Given the description of an element on the screen output the (x, y) to click on. 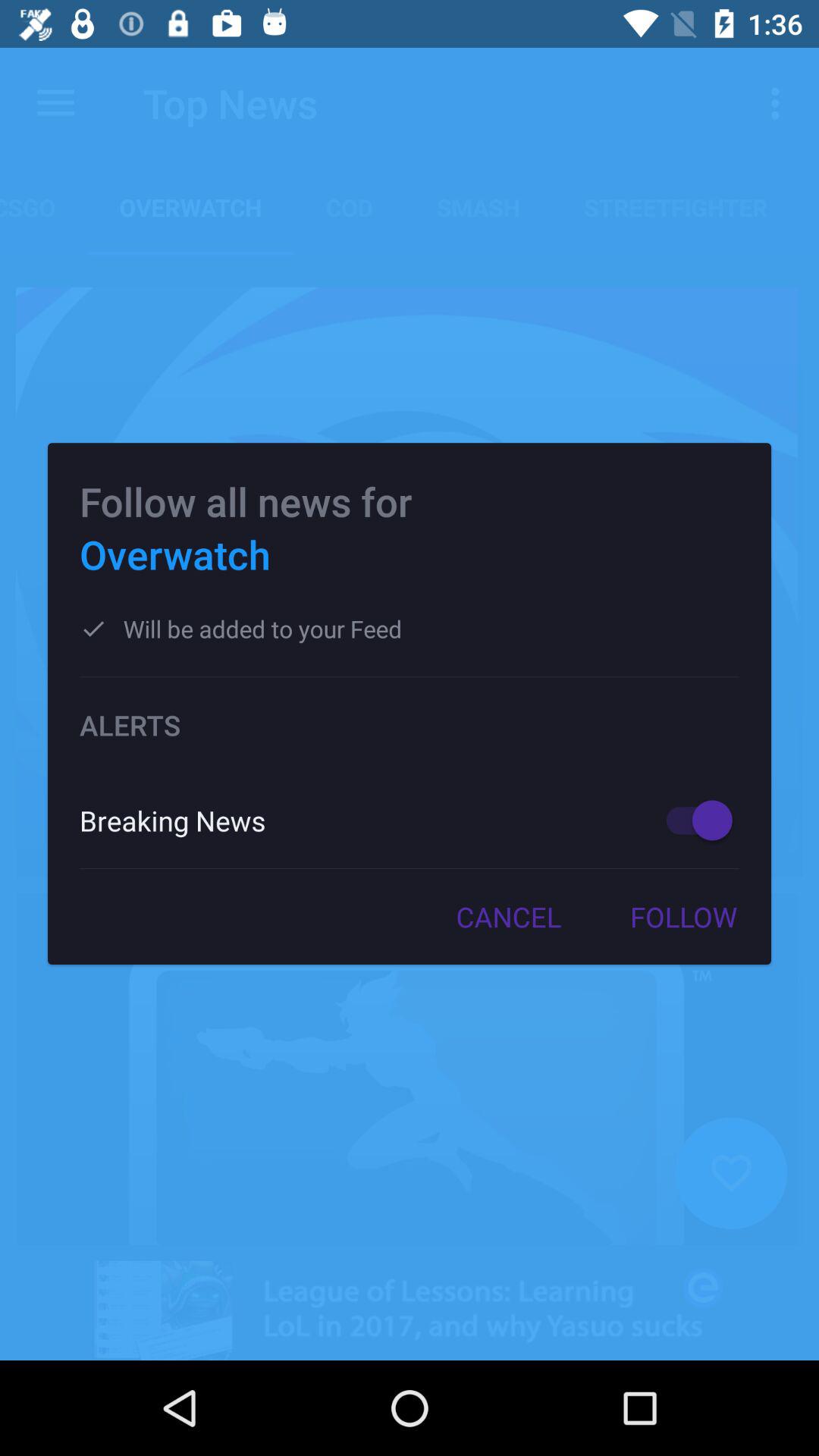
launch item to the right of breaking news icon (691, 820)
